Given the description of an element on the screen output the (x, y) to click on. 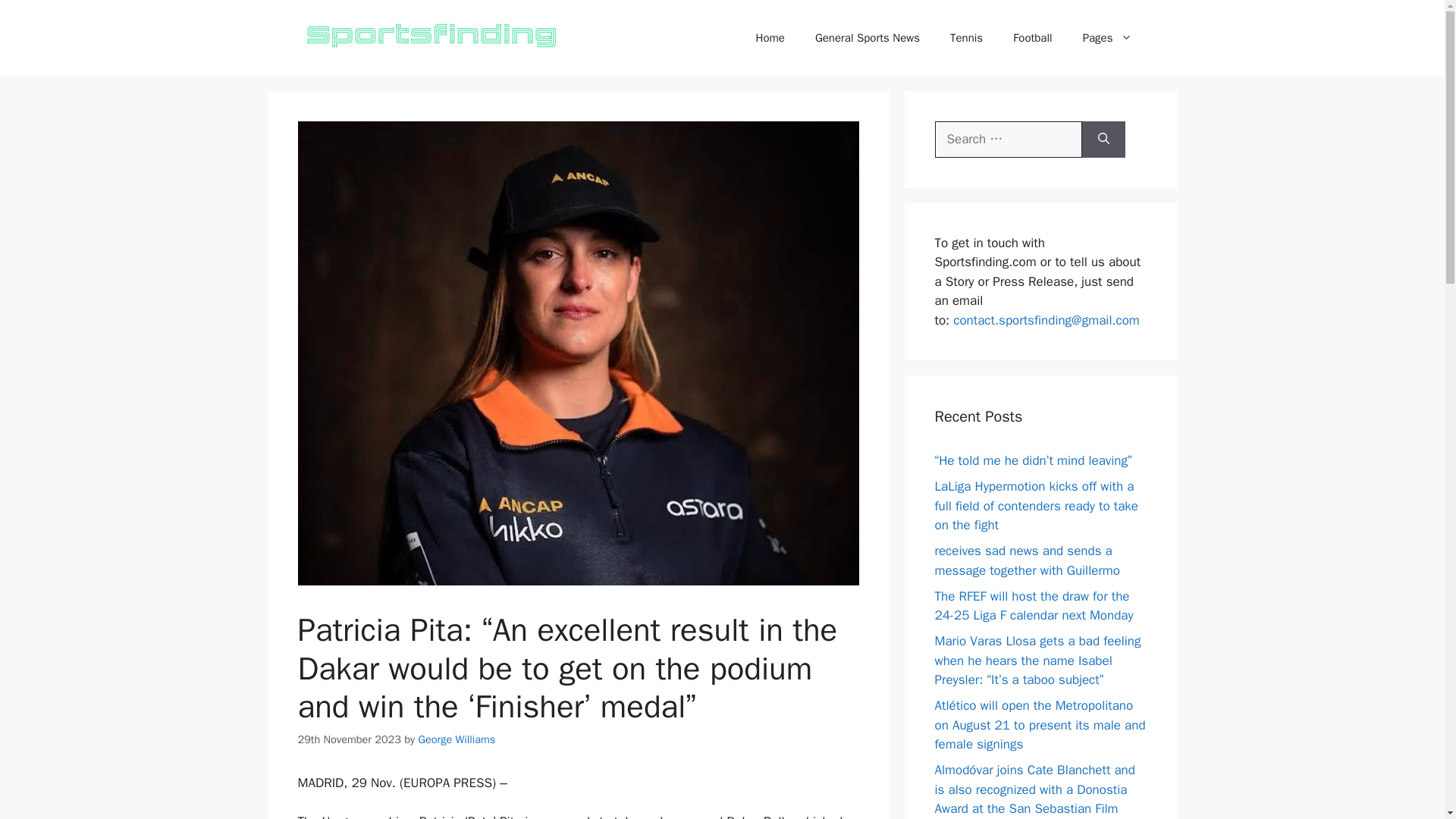
George Williams (456, 739)
Search for: (1007, 139)
Football (1032, 37)
General Sports News (866, 37)
View all posts by George Williams (456, 739)
Home (770, 37)
Tennis (965, 37)
Pages (1107, 37)
